Given the description of an element on the screen output the (x, y) to click on. 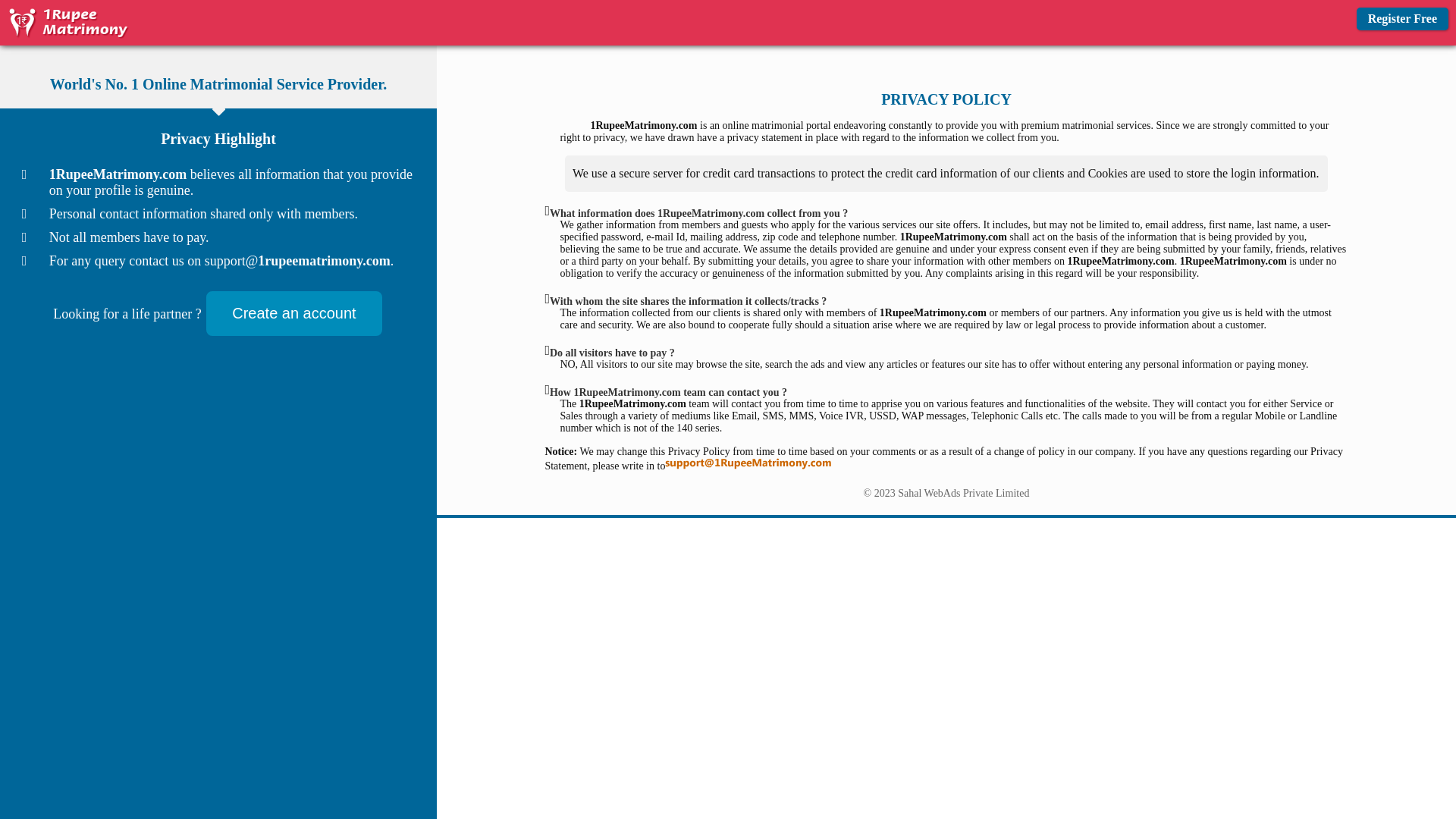
Create an account Element type: text (292, 313)
Create an account Element type: text (293, 313)
